Given the description of an element on the screen output the (x, y) to click on. 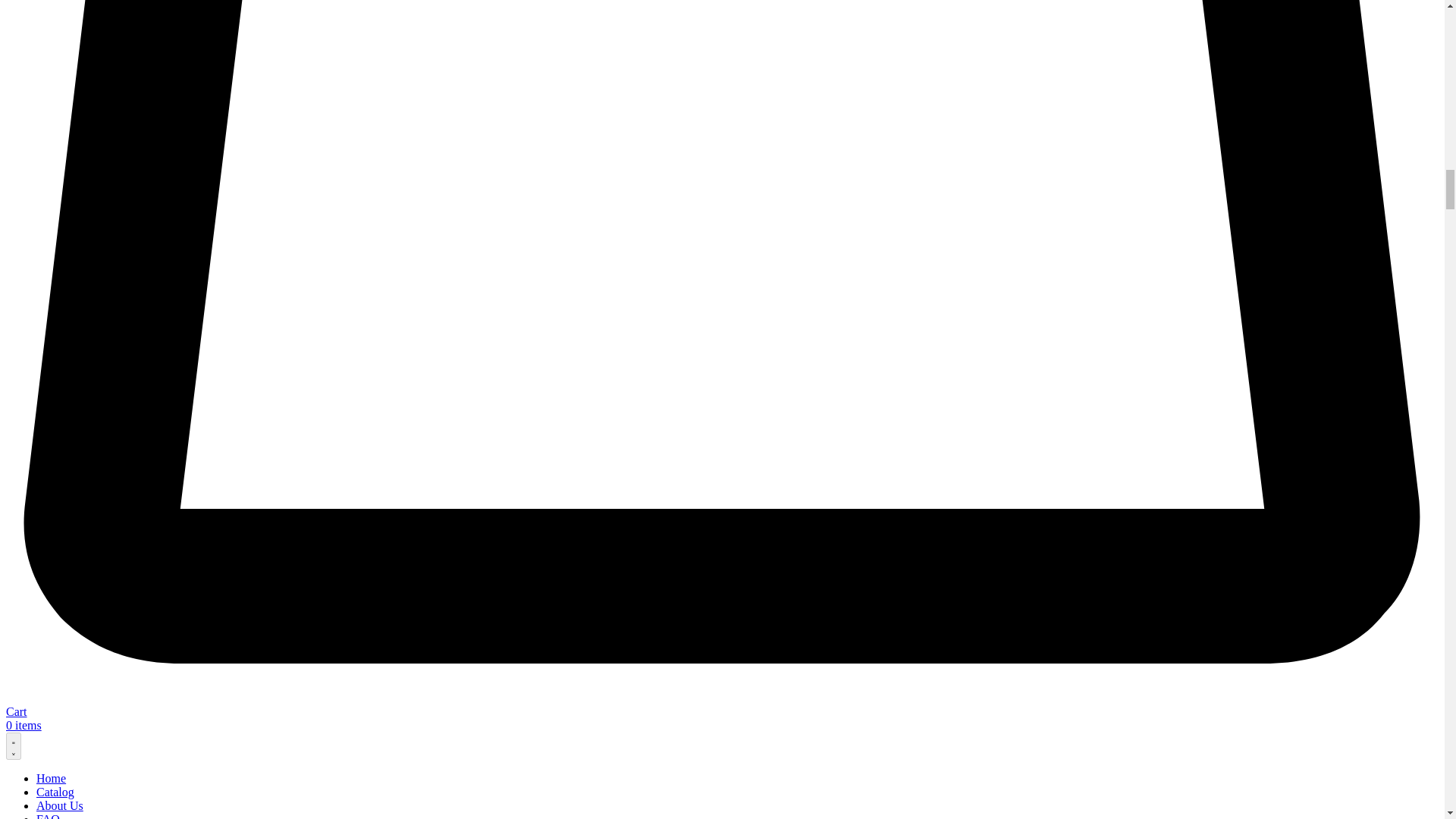
About Us (59, 805)
Home (50, 778)
FAQ (47, 816)
Catalog (55, 791)
